Given the description of an element on the screen output the (x, y) to click on. 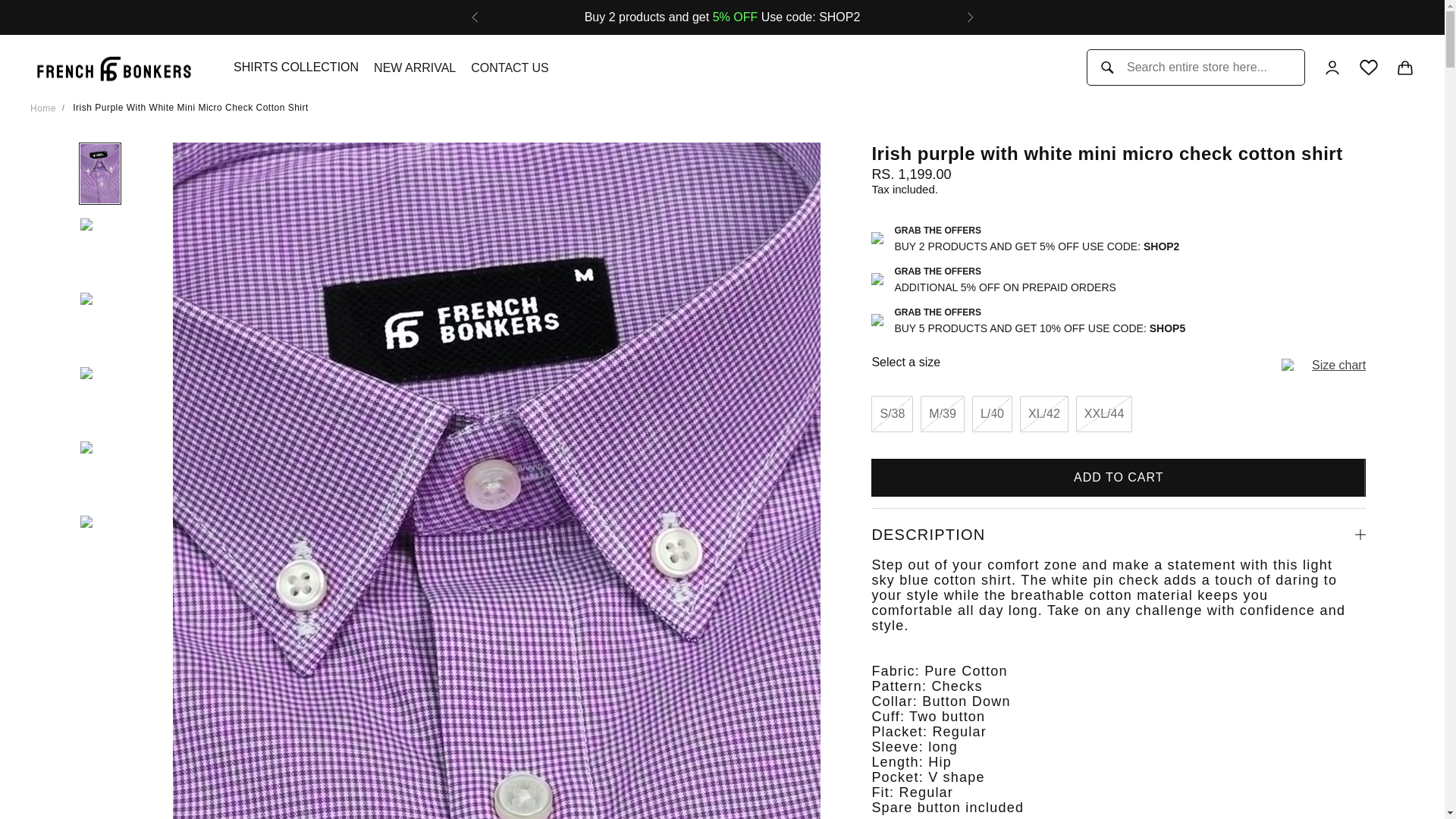
Open account page (1331, 67)
Wishlist (1368, 67)
Irish Purple With White Mini Micro Check Cotton Shirt (190, 107)
French Bonkers (113, 67)
Open cart (1404, 67)
Home (43, 108)
ADD TO CART (1117, 477)
Size chart (1338, 365)
NEW ARRIVAL (414, 67)
CONTACT US (509, 67)
